Given the description of an element on the screen output the (x, y) to click on. 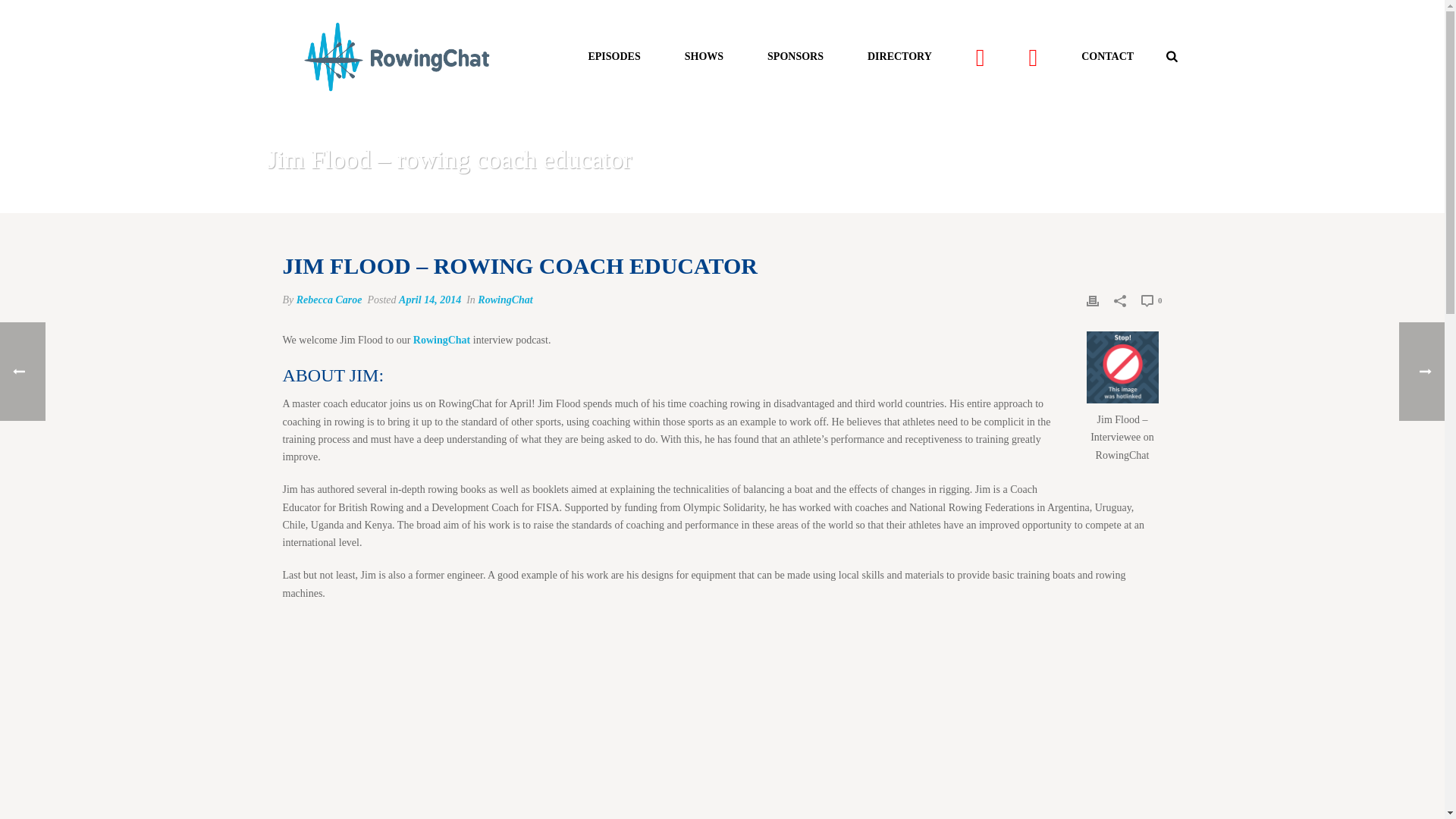
SHOWS (703, 55)
EPISODES (614, 55)
April 14, 2014 (429, 299)
DIRECTORY (899, 55)
0 (1151, 300)
SPONSORS (795, 55)
DIRECTORY (899, 55)
RowingChat (504, 299)
Rebecca Caroe (329, 299)
HOME (893, 198)
